Given the description of an element on the screen output the (x, y) to click on. 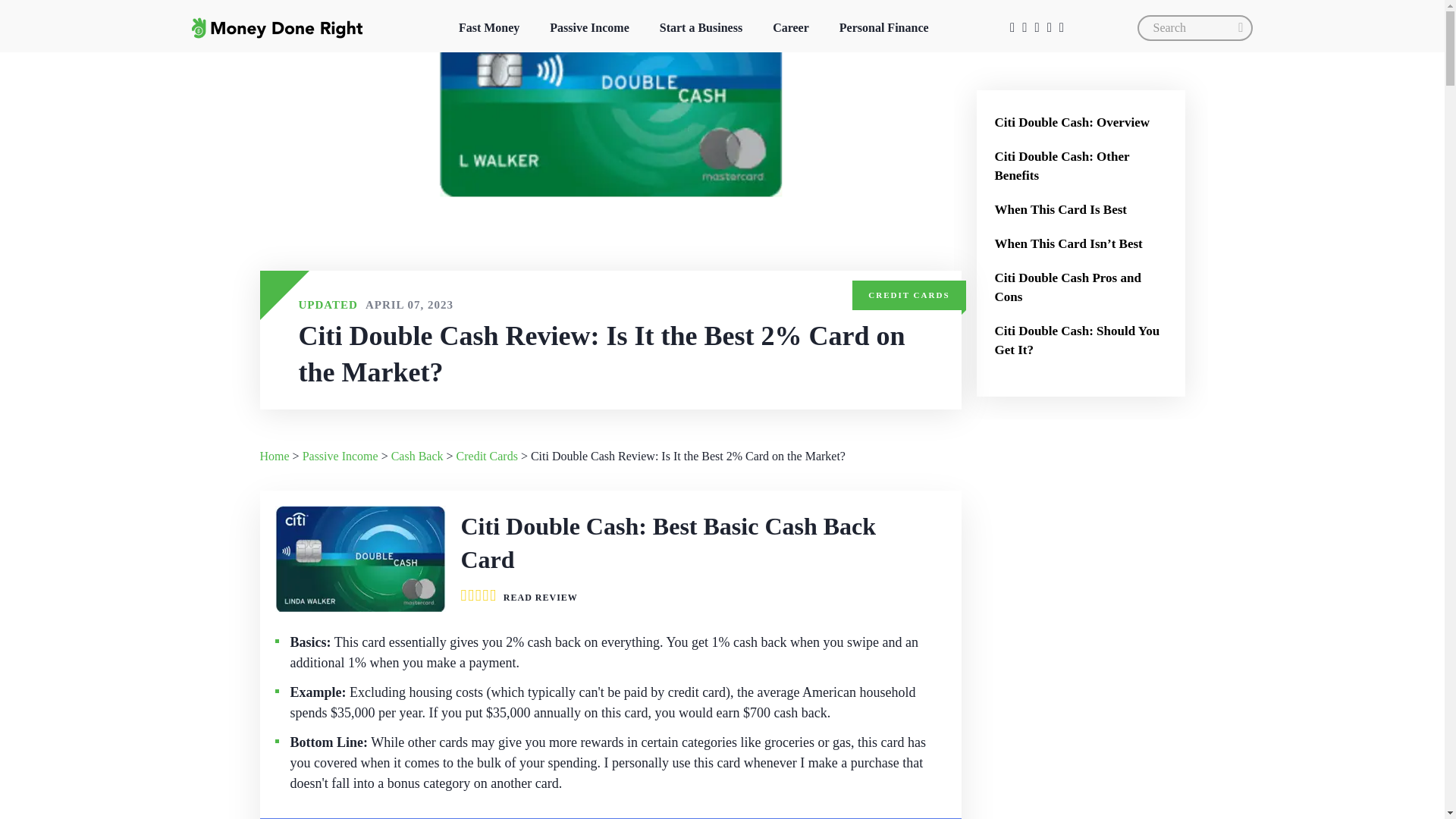
Personal Finance (883, 27)
Passive Income (588, 27)
When This Card Is Best (1080, 209)
Career (790, 27)
Citi Double Cash Pros and Cons (1080, 287)
Citi Double Cash: Other Benefits (1080, 165)
Fast Money (489, 27)
Citi Double Cash: Should You Get It? (1080, 339)
Start a Business (701, 27)
Citi Double Cash: Overview (1080, 122)
